Given the description of an element on the screen output the (x, y) to click on. 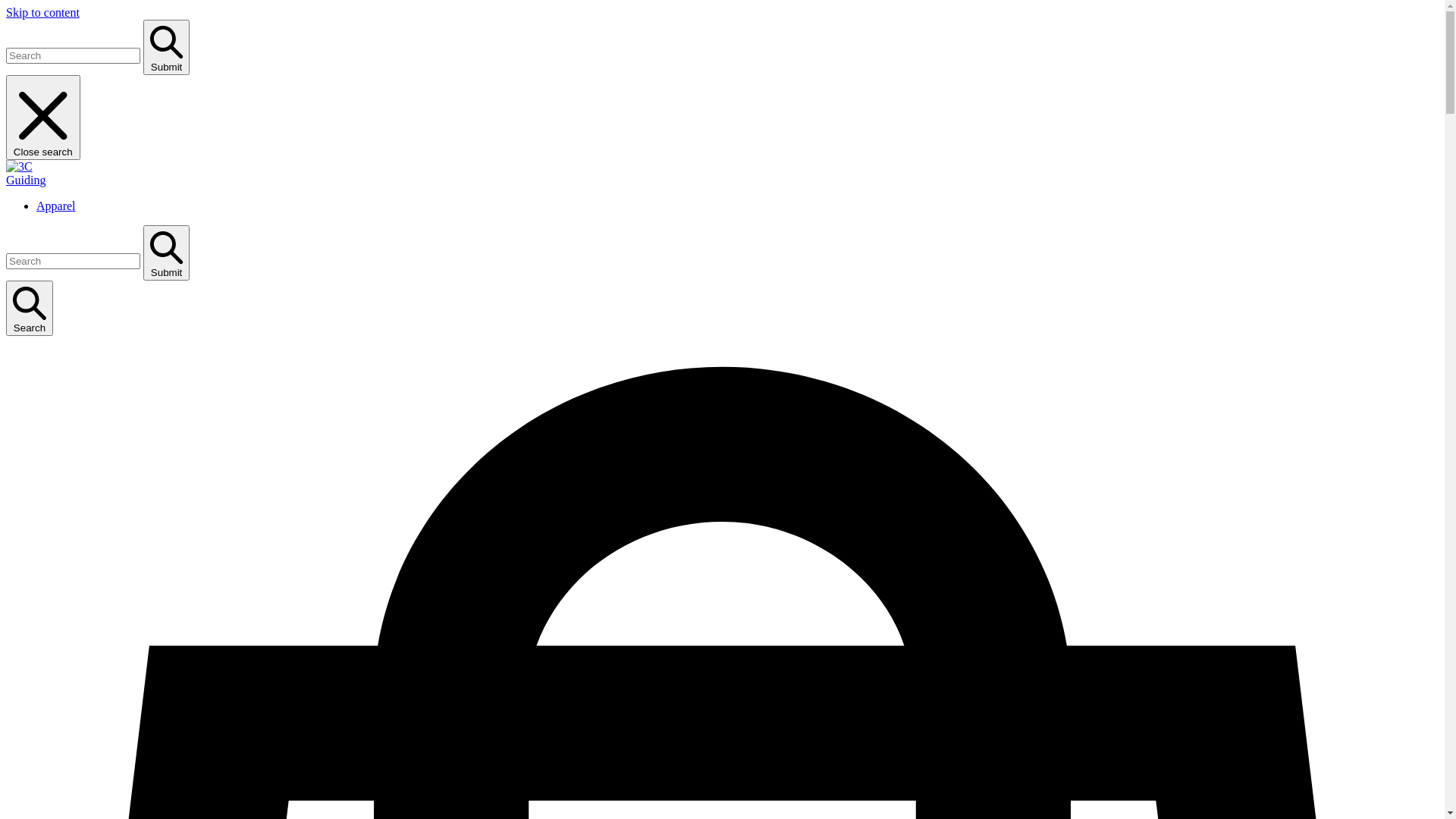
Close search Element type: text (43, 117)
Search Element type: text (29, 308)
Submit Element type: text (166, 252)
Apparel Element type: text (55, 205)
Skip to content Element type: text (42, 12)
Submit Element type: text (166, 47)
